Given the description of an element on the screen output the (x, y) to click on. 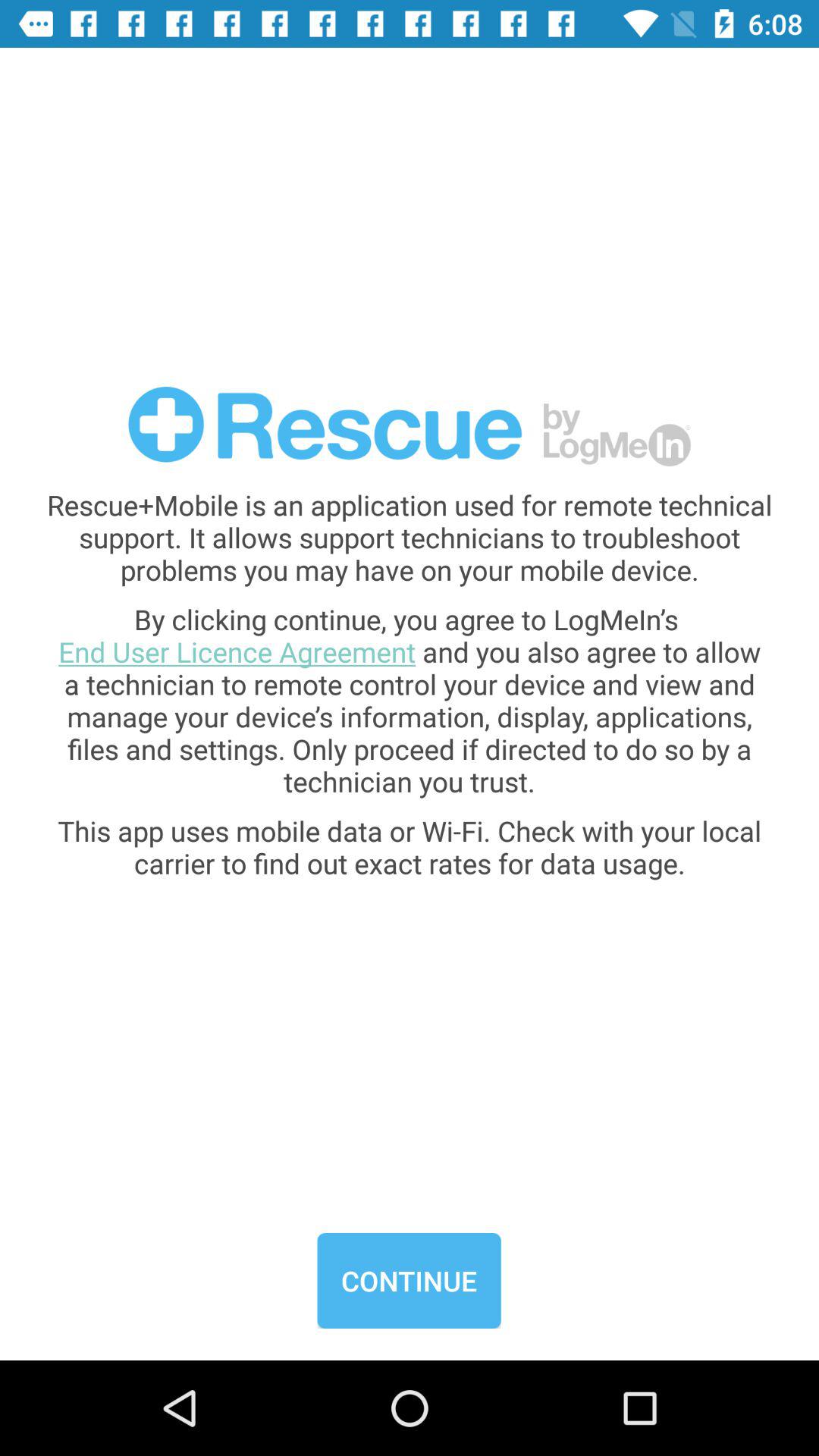
click the item below the rescue mobile is item (409, 700)
